Given the description of an element on the screen output the (x, y) to click on. 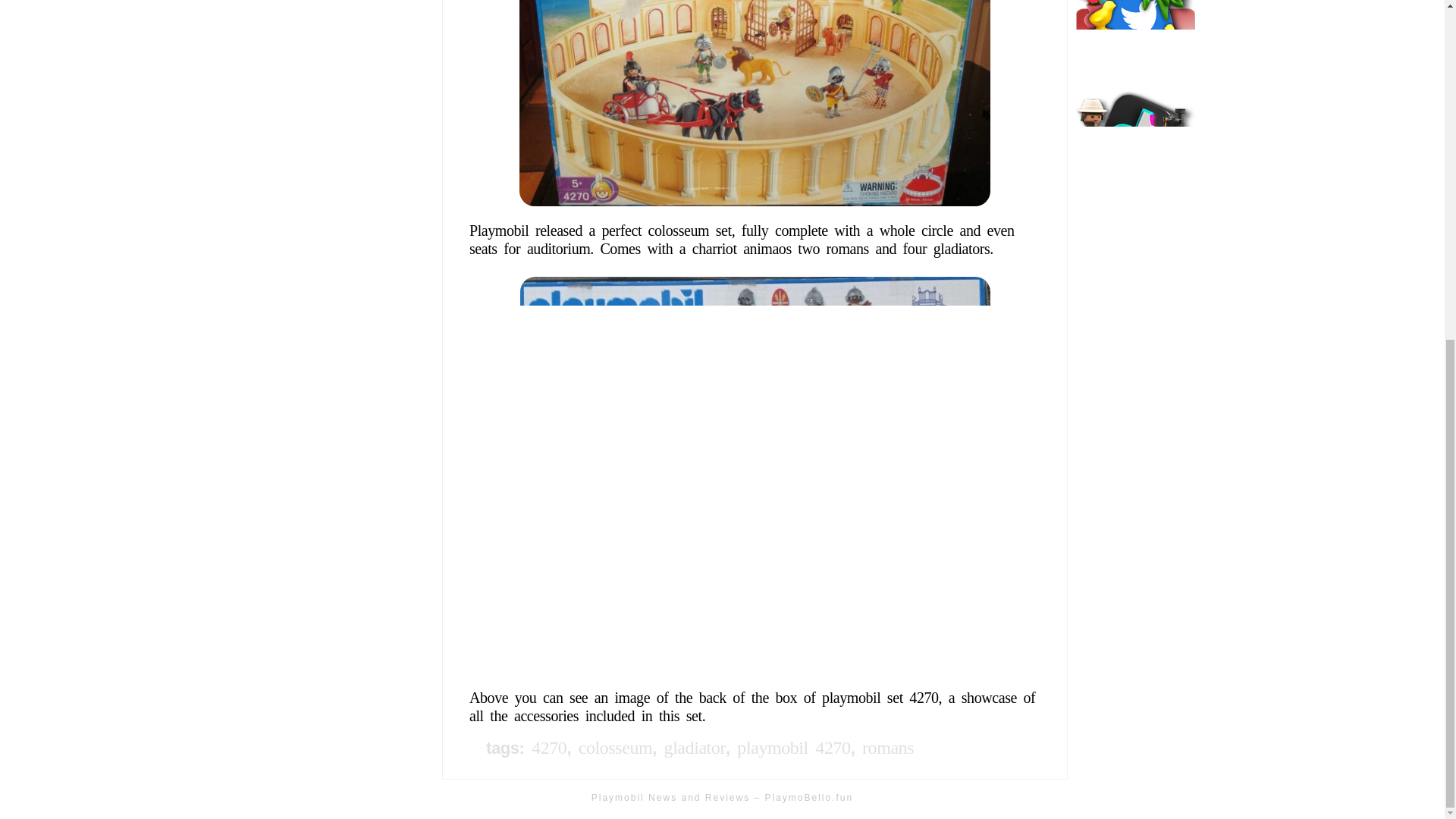
colosseum (615, 747)
Hans Beck (49, 316)
Pirates (37, 148)
playmobil 4270 (793, 747)
gladiator (694, 747)
Catalog by Year (64, 260)
Contact Us (50, 344)
Knights (40, 36)
Novelmore (49, 92)
Rock n' Roll (53, 176)
